Given the description of an element on the screen output the (x, y) to click on. 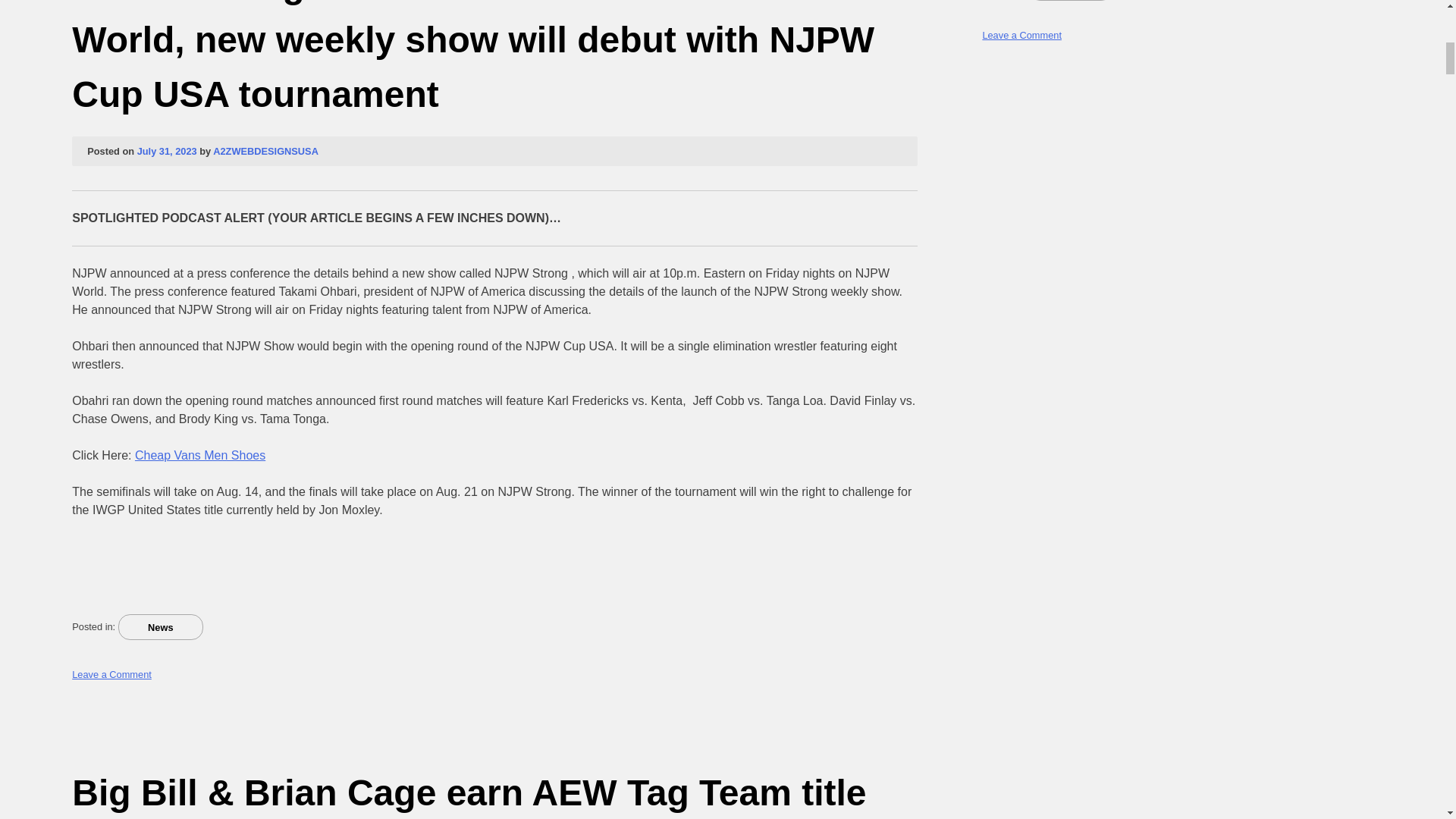
Cheap Vans Men Shoes (199, 454)
July 31, 2023 (166, 151)
News (160, 626)
Cheap Vans Men Shoes (199, 454)
A2ZWEBDESIGNSUSA (265, 151)
